Given the description of an element on the screen output the (x, y) to click on. 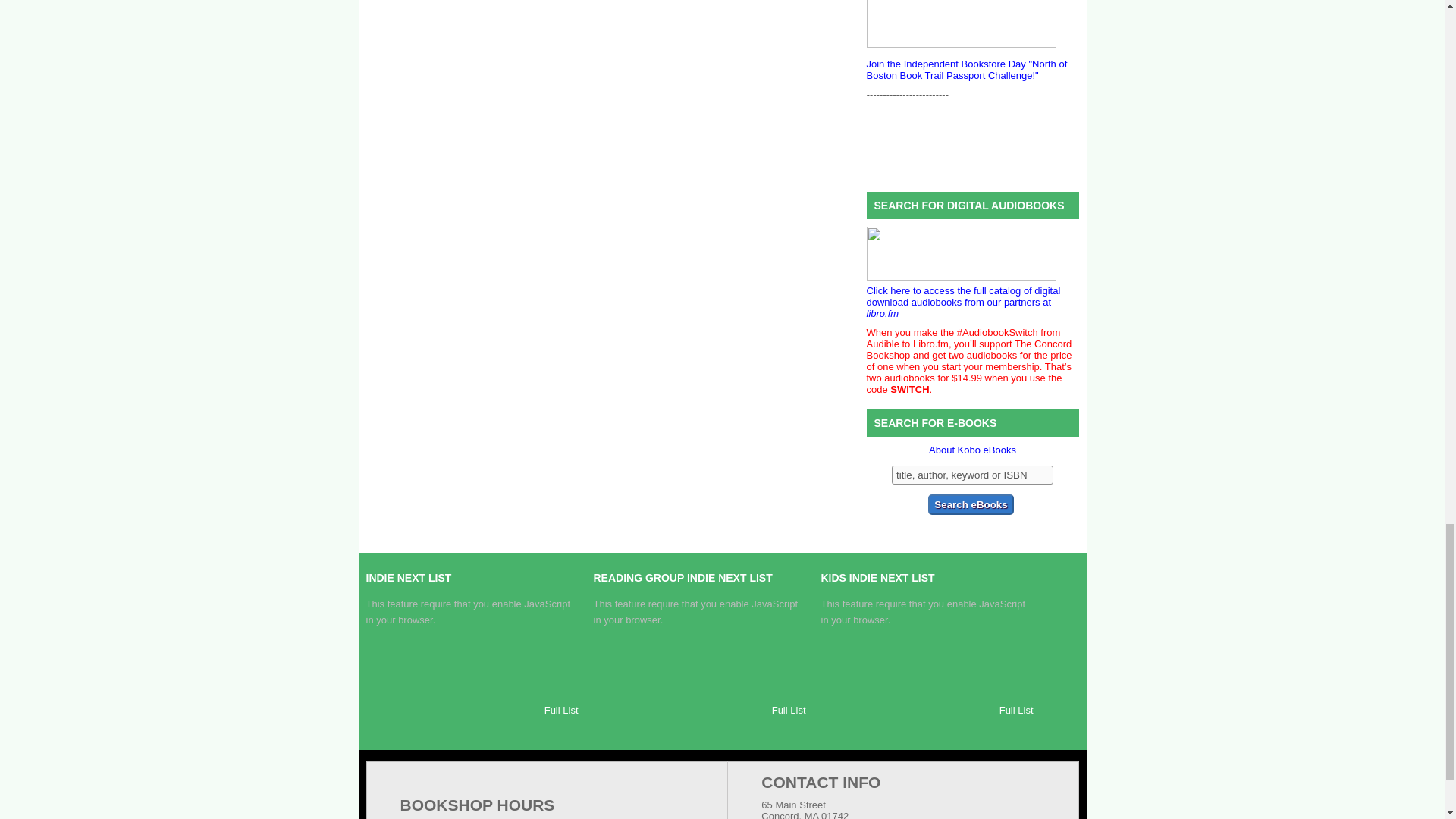
Enter title, author, keyword or ISBN. (971, 475)
Search eBooks (970, 504)
title, author, keyword or ISBN (971, 475)
